Given the description of an element on the screen output the (x, y) to click on. 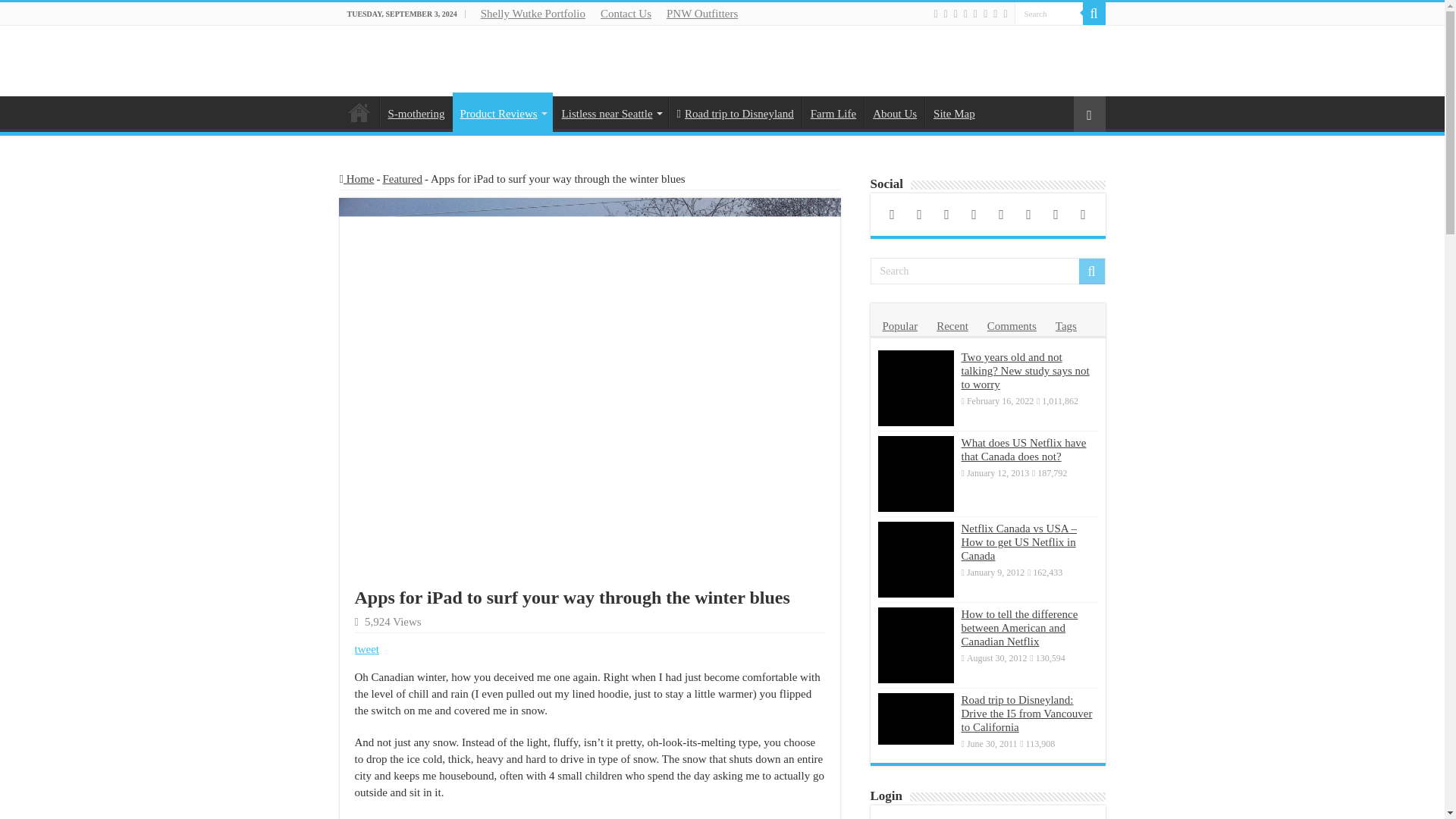
Contact Us (625, 13)
About Us (894, 111)
Home (358, 111)
PNW Outfitters (702, 13)
S-mothering (414, 111)
Road trip to Disneyland (735, 111)
Search (1048, 13)
Search (1094, 13)
Shelly Wutke Portfolio (532, 13)
Listless near Seattle (610, 111)
